Given the description of an element on the screen output the (x, y) to click on. 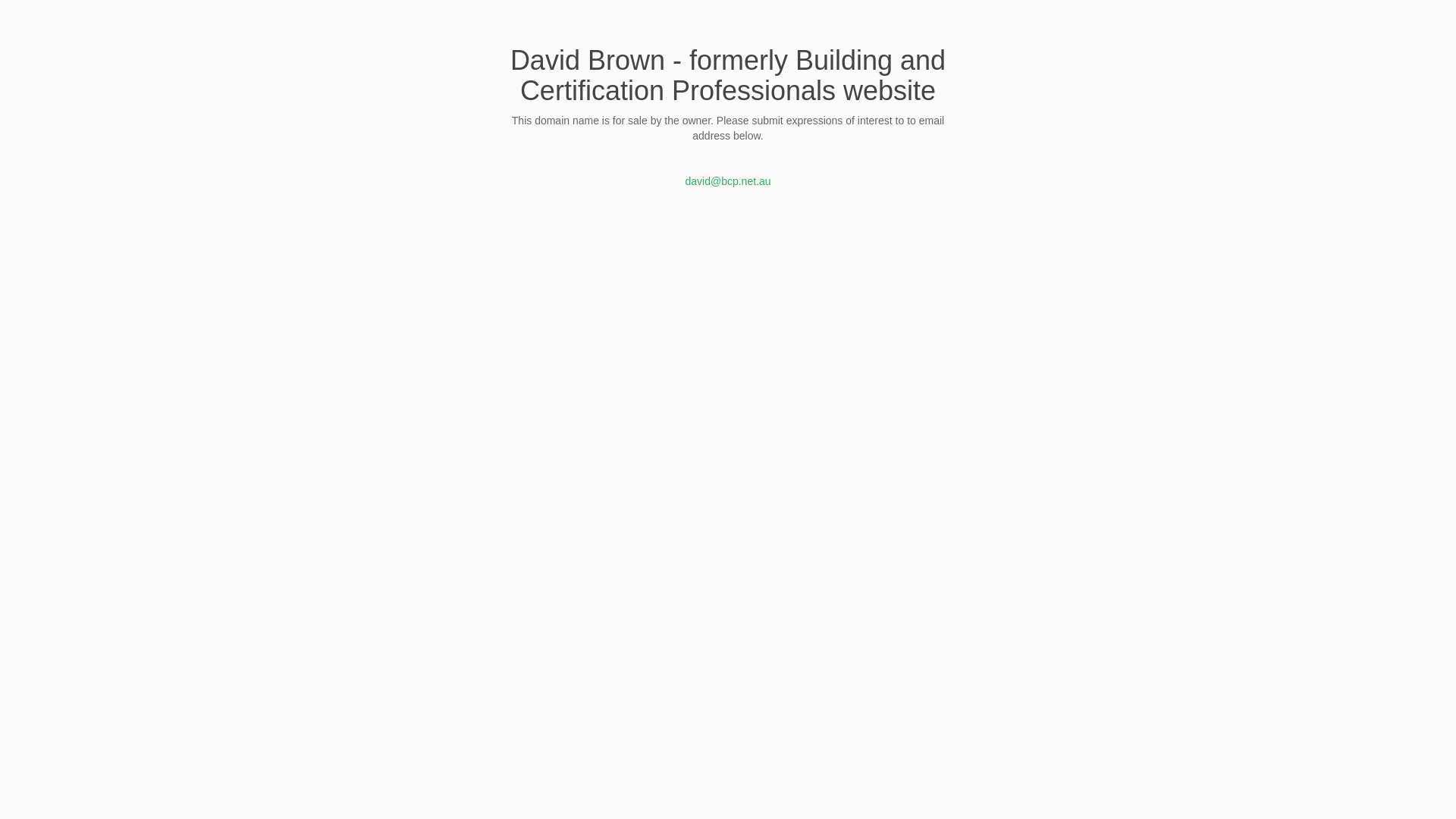
david@bcp.net.au Element type: text (727, 181)
